Given the description of an element on the screen output the (x, y) to click on. 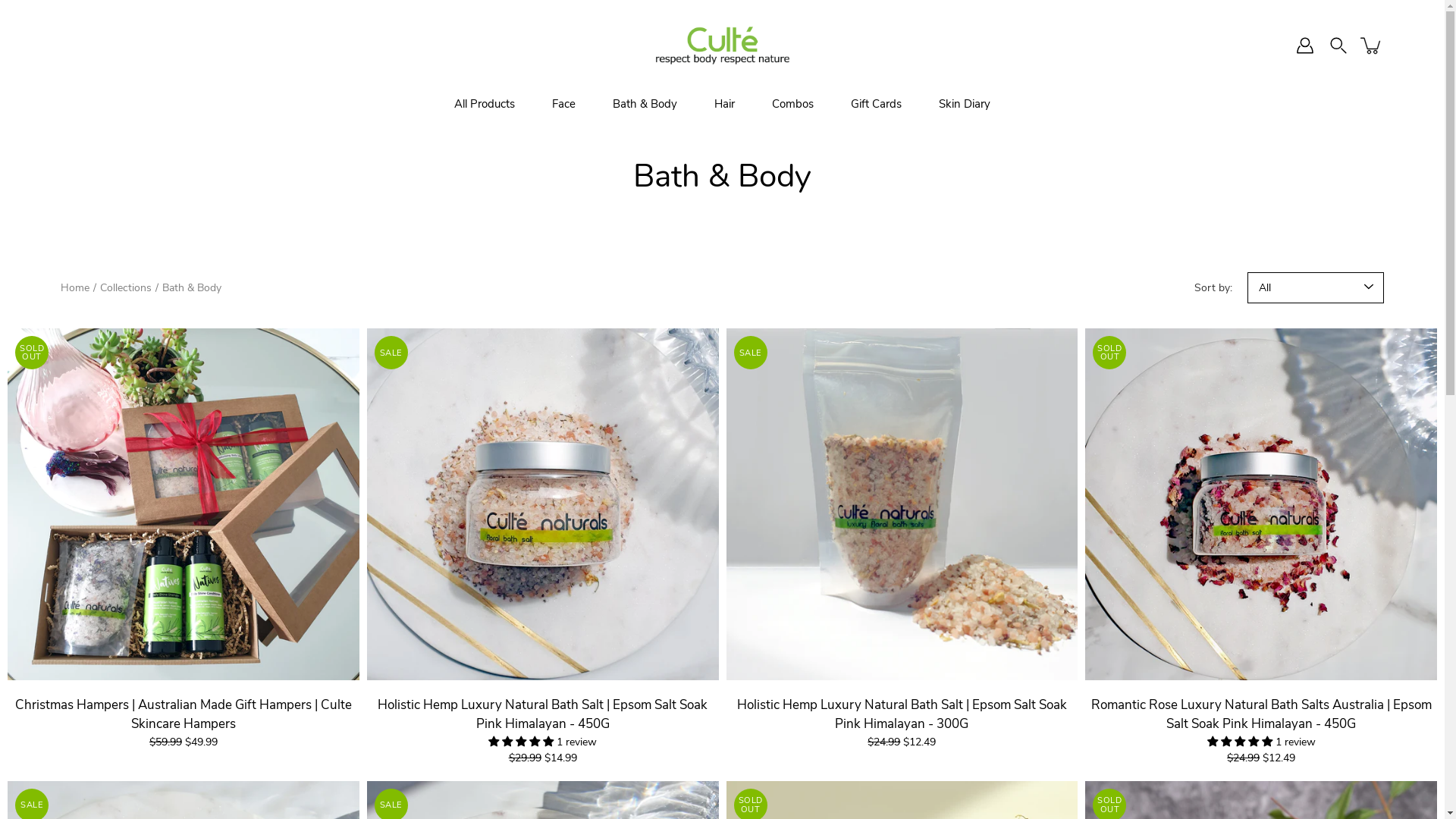
Collections Element type: text (125, 287)
Gift Cards Element type: text (875, 103)
Face Element type: text (563, 103)
All Products Element type: text (484, 103)
SOLD
OUT Element type: text (1261, 504)
Bath & Body Element type: text (644, 103)
Hair Element type: text (724, 103)
SALE Element type: text (902, 504)
Home Element type: text (74, 287)
SALE Element type: text (542, 504)
SOLD
OUT Element type: text (183, 504)
Combos Element type: text (792, 103)
Skin Diary Element type: text (964, 103)
